Given the description of an element on the screen output the (x, y) to click on. 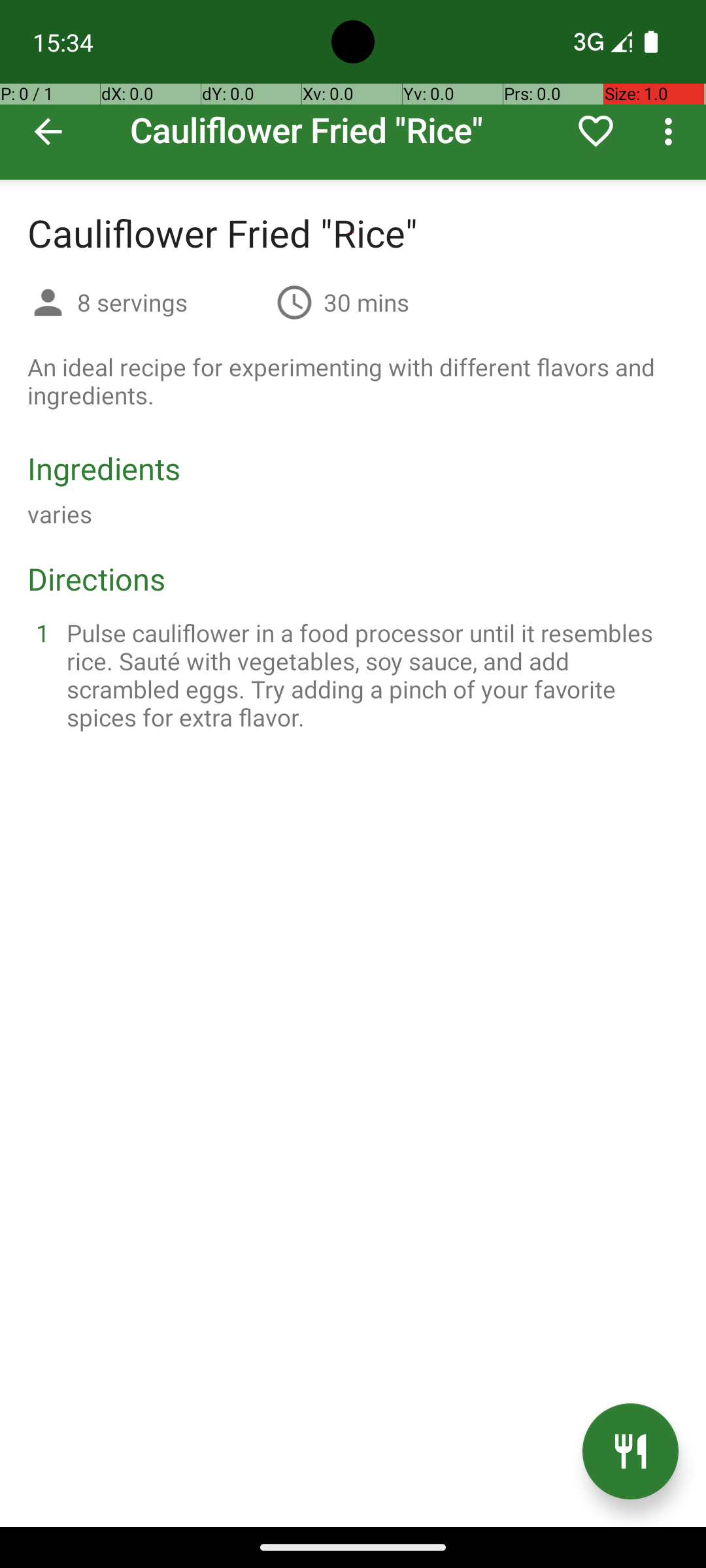
8 servings Element type: android.widget.TextView (170, 301)
30 mins Element type: android.widget.TextView (366, 301)
varies Element type: android.widget.TextView (59, 513)
Pulse cauliflower in a food processor until it resembles rice. Sauté with vegetables, soy sauce, and add scrambled eggs. Try adding a pinch of your favorite spices for extra flavor. Element type: android.widget.TextView (368, 674)
